Given the description of an element on the screen output the (x, y) to click on. 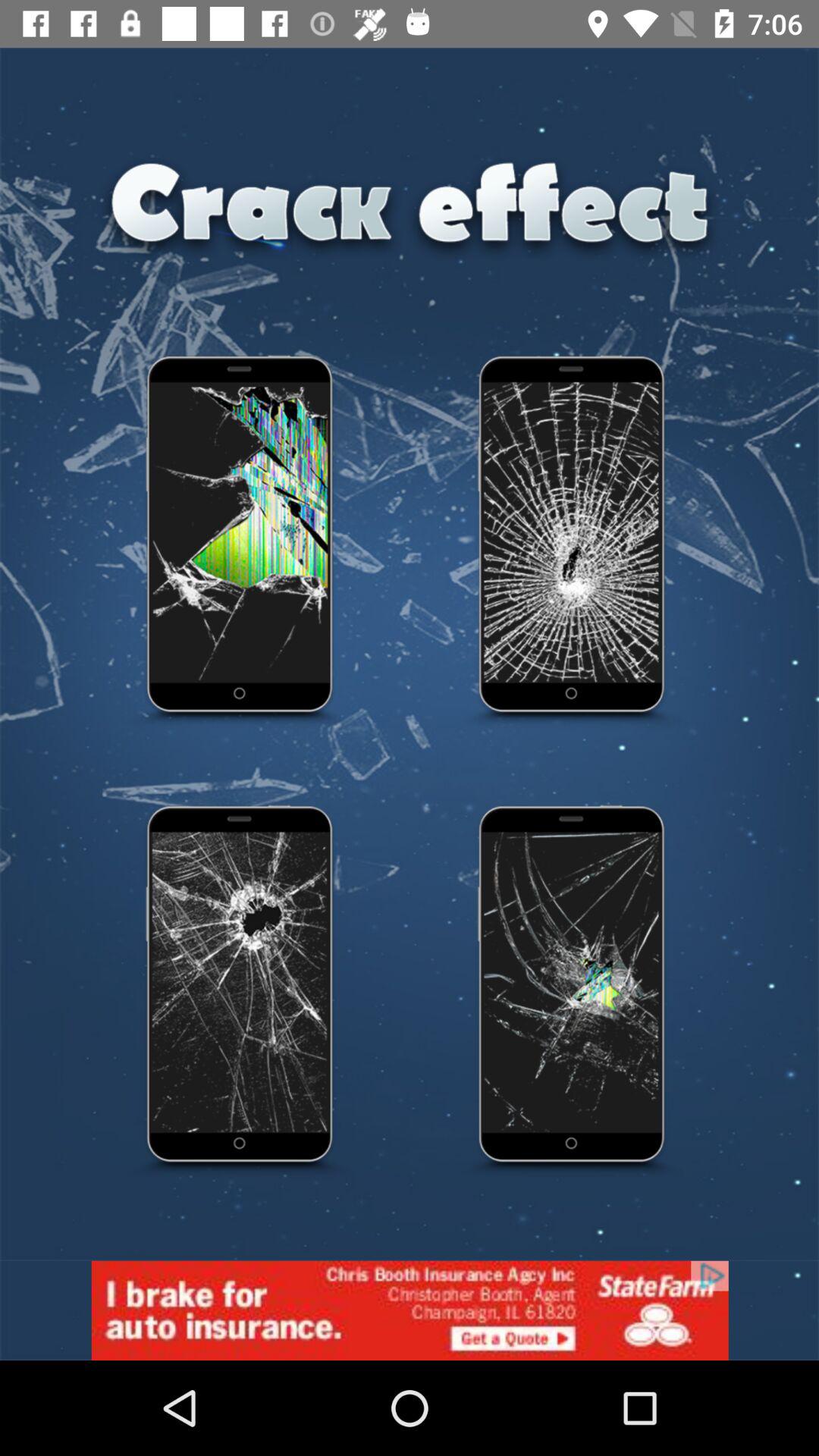
choose effect (240, 542)
